Given the description of an element on the screen output the (x, y) to click on. 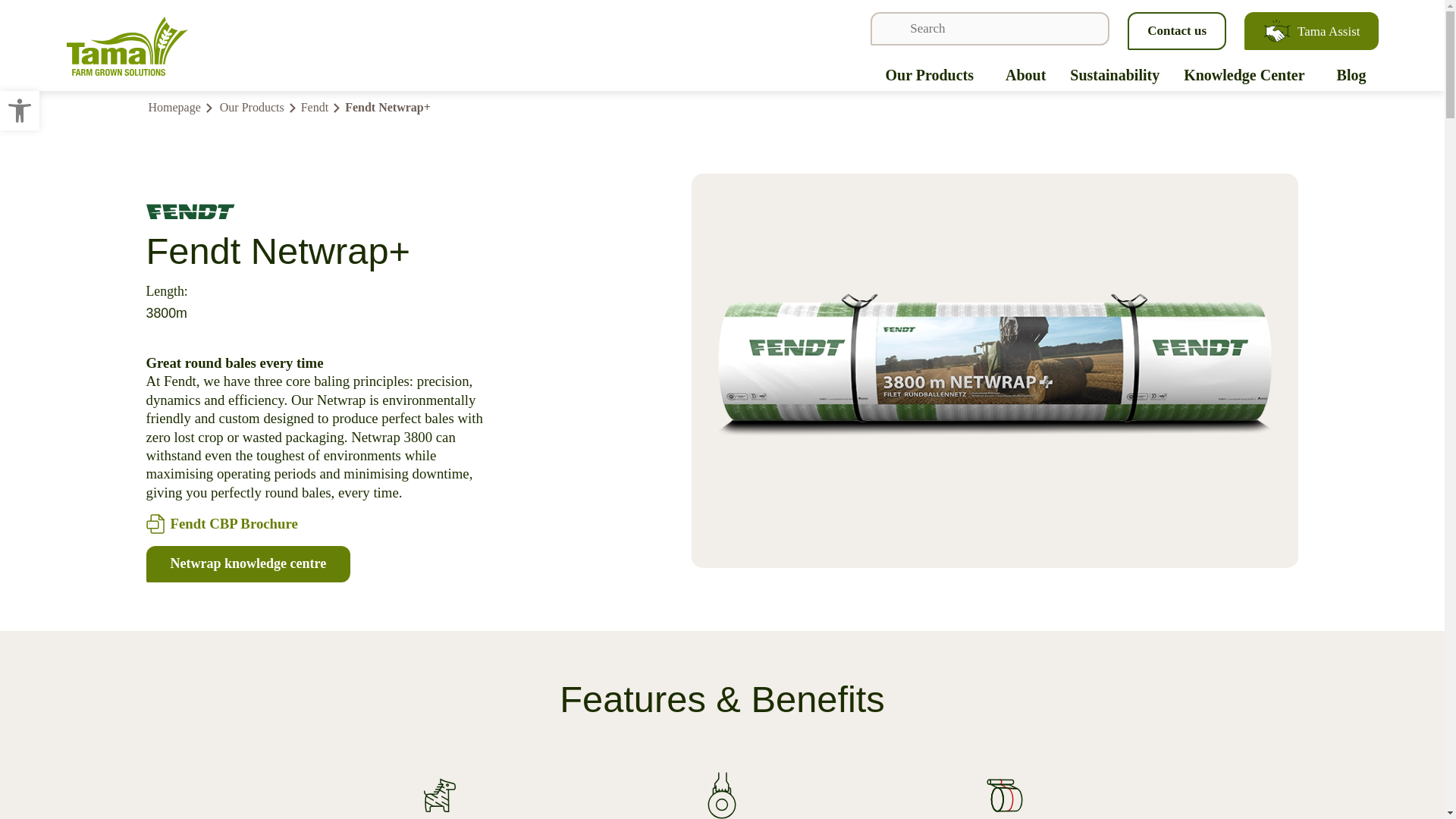
Contact us (1175, 30)
Tama Assist (1310, 30)
 Tama Assist (1310, 30)
Our Products (928, 74)
Our Products (251, 107)
Accessibility Tools (19, 110)
Accessibility Tools (19, 110)
Tama UK (19, 110)
Homepage (126, 45)
